Given the description of an element on the screen output the (x, y) to click on. 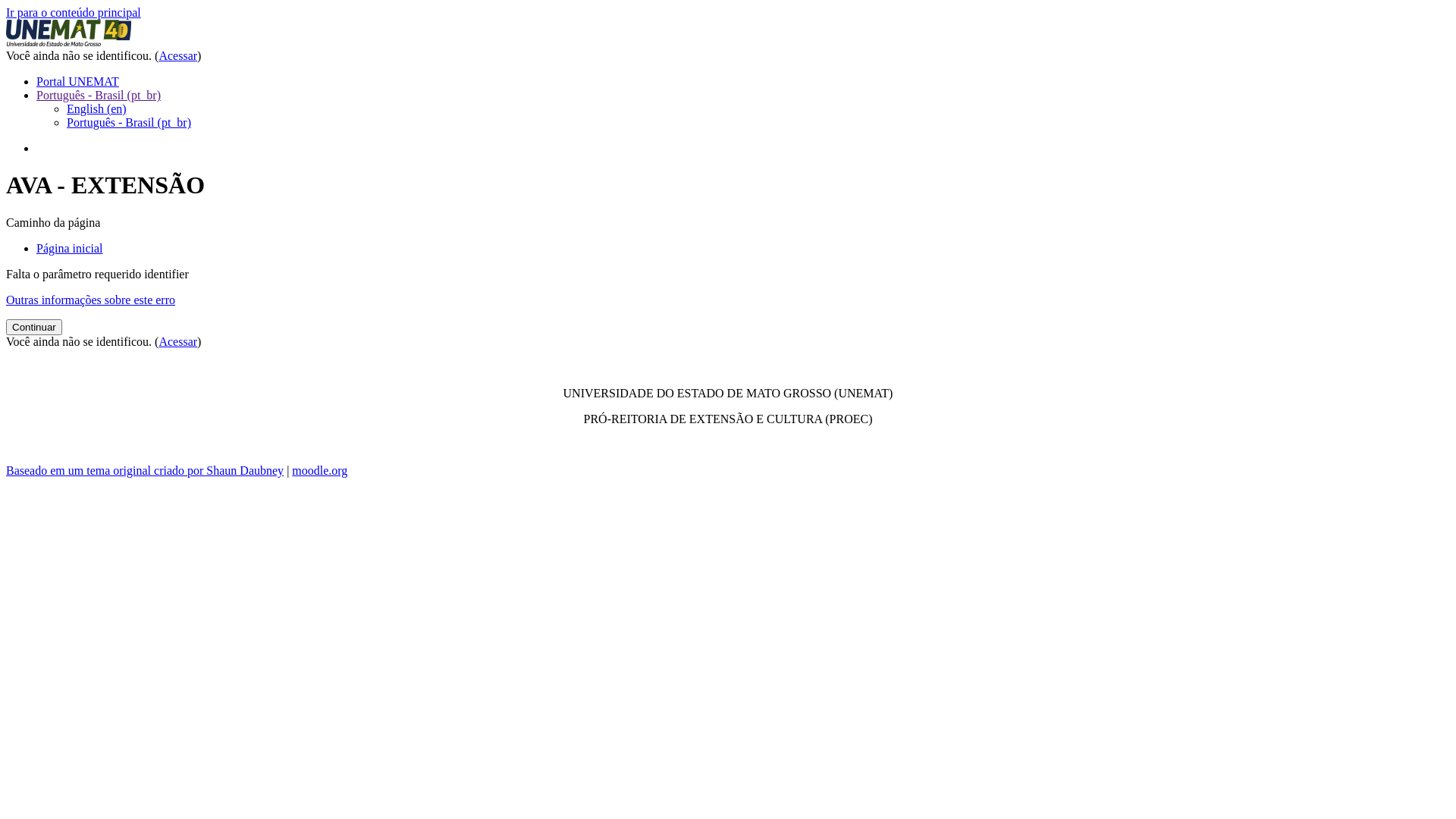
Acessar Element type: text (177, 341)
English (en) Element type: text (96, 108)
Baseado em um tema original criado por Shaun Daubney Element type: text (144, 470)
Continuar Element type: text (34, 327)
Portal UNEMAT Element type: text (77, 81)
Acessar Element type: text (177, 55)
moodle.org Element type: text (319, 470)
